Given the description of an element on the screen output the (x, y) to click on. 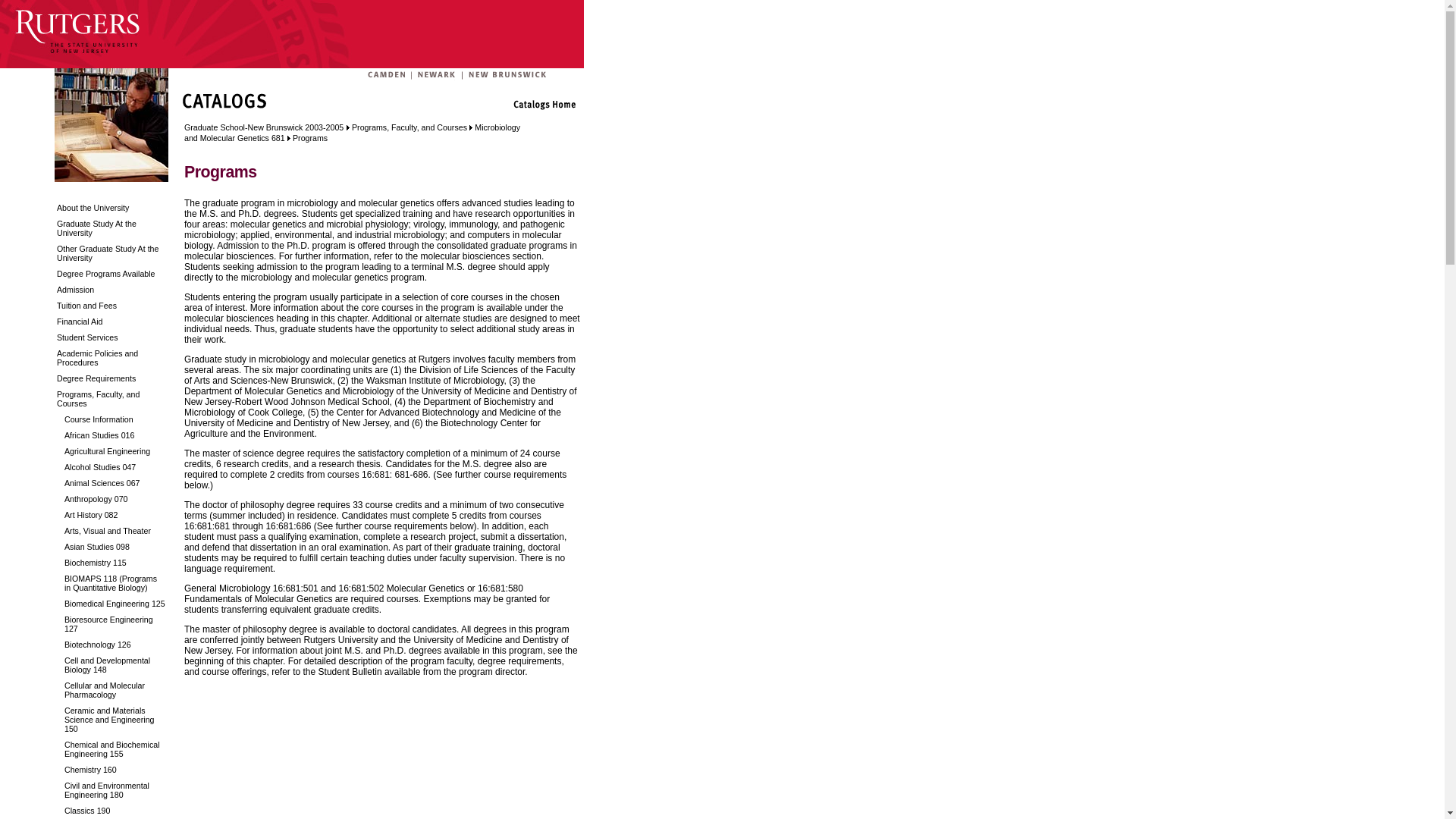
Degree Requirements (110, 376)
Other Graduate Study At the University (110, 251)
Chemistry 160 (110, 767)
Animal Sciences 067 (110, 481)
Programs, Faculty, and Courses (110, 396)
Asian Studies 098 (110, 544)
Graduate Study At the University (110, 226)
Tuition and Fees (110, 303)
Degree Programs Available (110, 271)
Admission (110, 287)
